Given the description of an element on the screen output the (x, y) to click on. 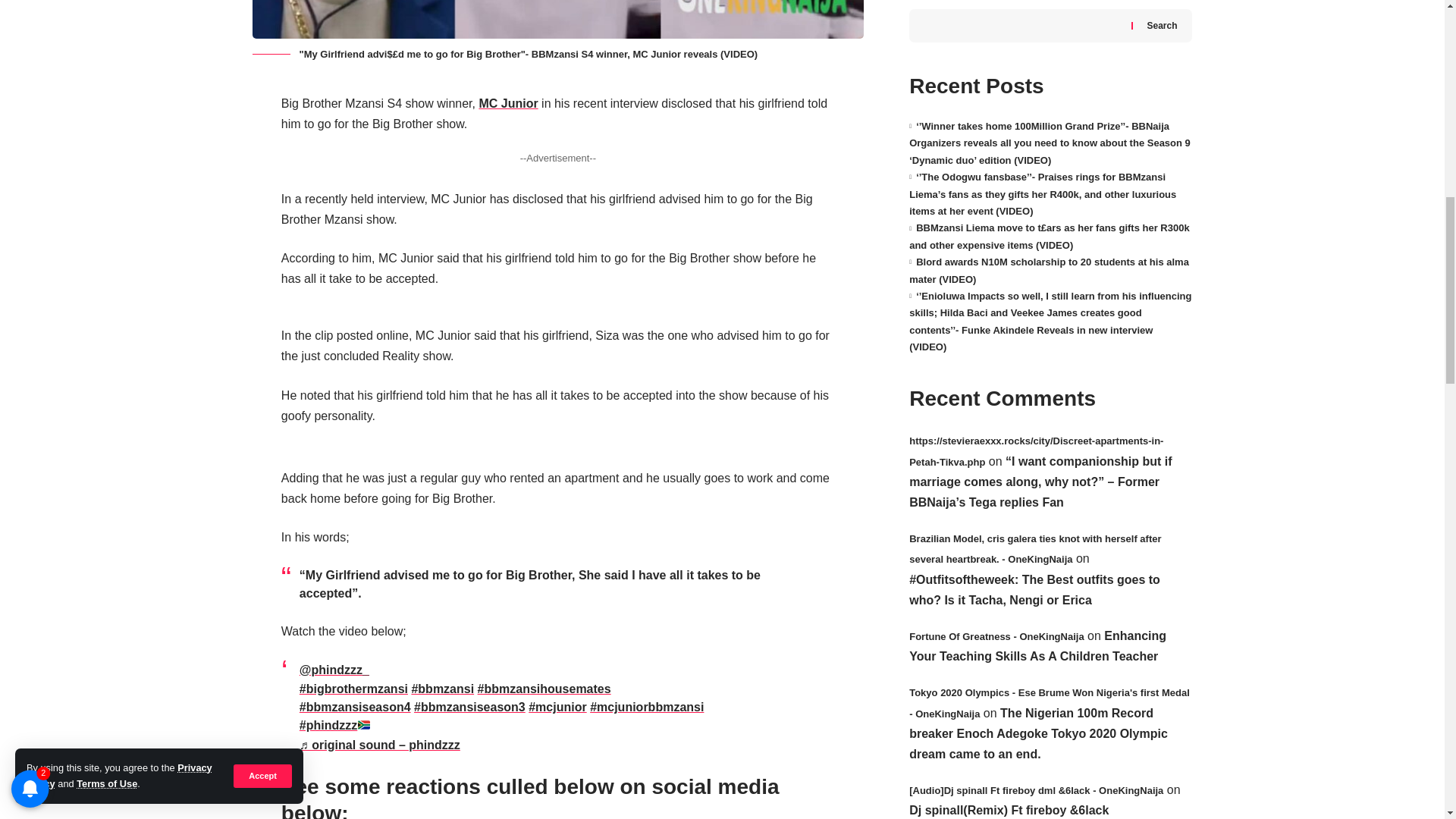
bbmzansiseason4 (354, 707)
bigbrothermzansi (353, 688)
bbmzansi (442, 688)
bbmzansihousemates (544, 688)
